Given the description of an element on the screen output the (x, y) to click on. 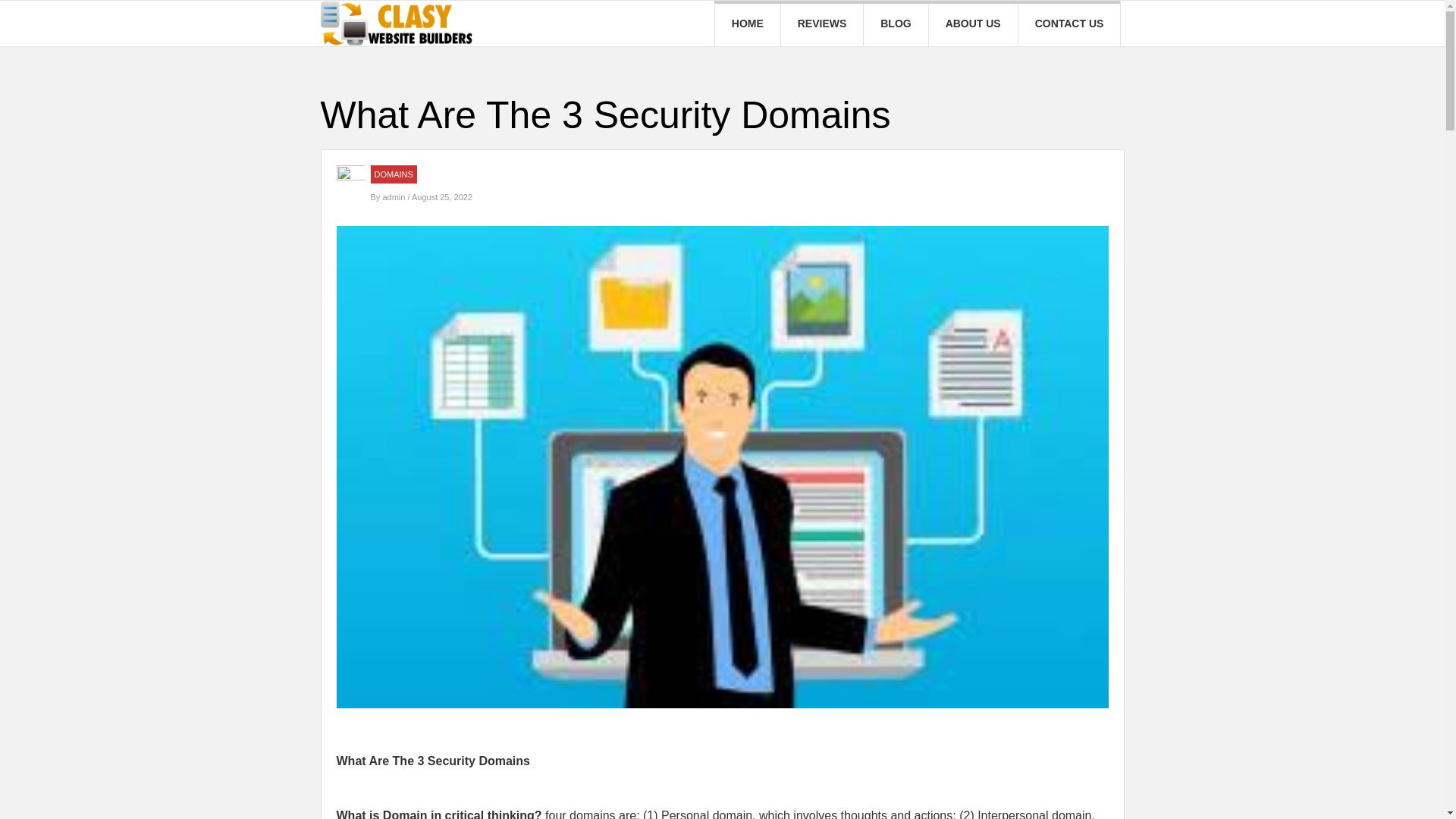
ABOUT US (972, 22)
admin (394, 196)
REVIEWS (821, 22)
BLOG (895, 22)
HOME (747, 22)
CONTACT US (1069, 22)
DOMAINS (393, 174)
